Given the description of an element on the screen output the (x, y) to click on. 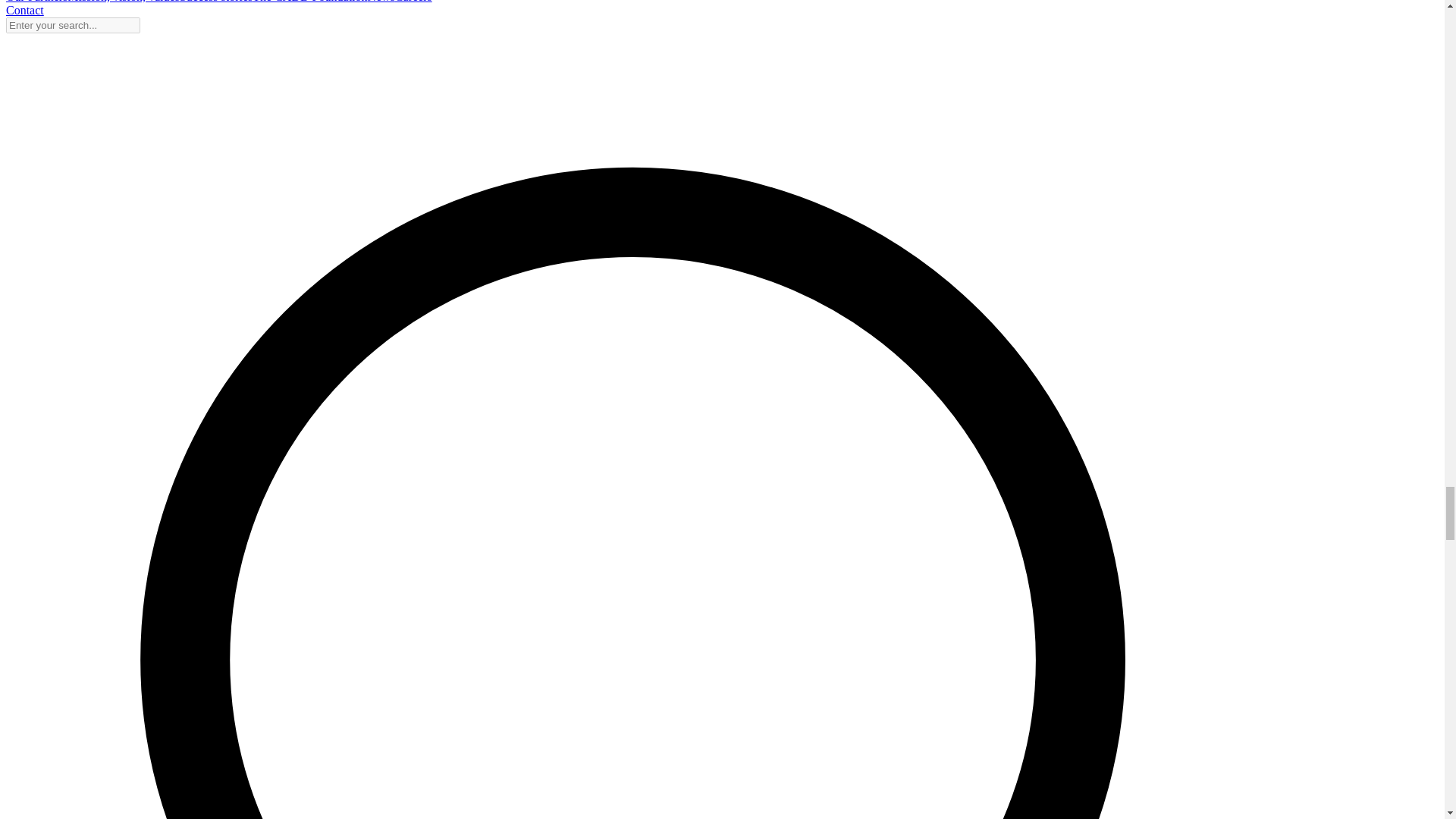
Our Partners (35, 1)
News (380, 1)
Mission, vision, values (122, 1)
Success stories (215, 1)
Careers (413, 1)
The CADD Foundation (308, 1)
